Given the description of an element on the screen output the (x, y) to click on. 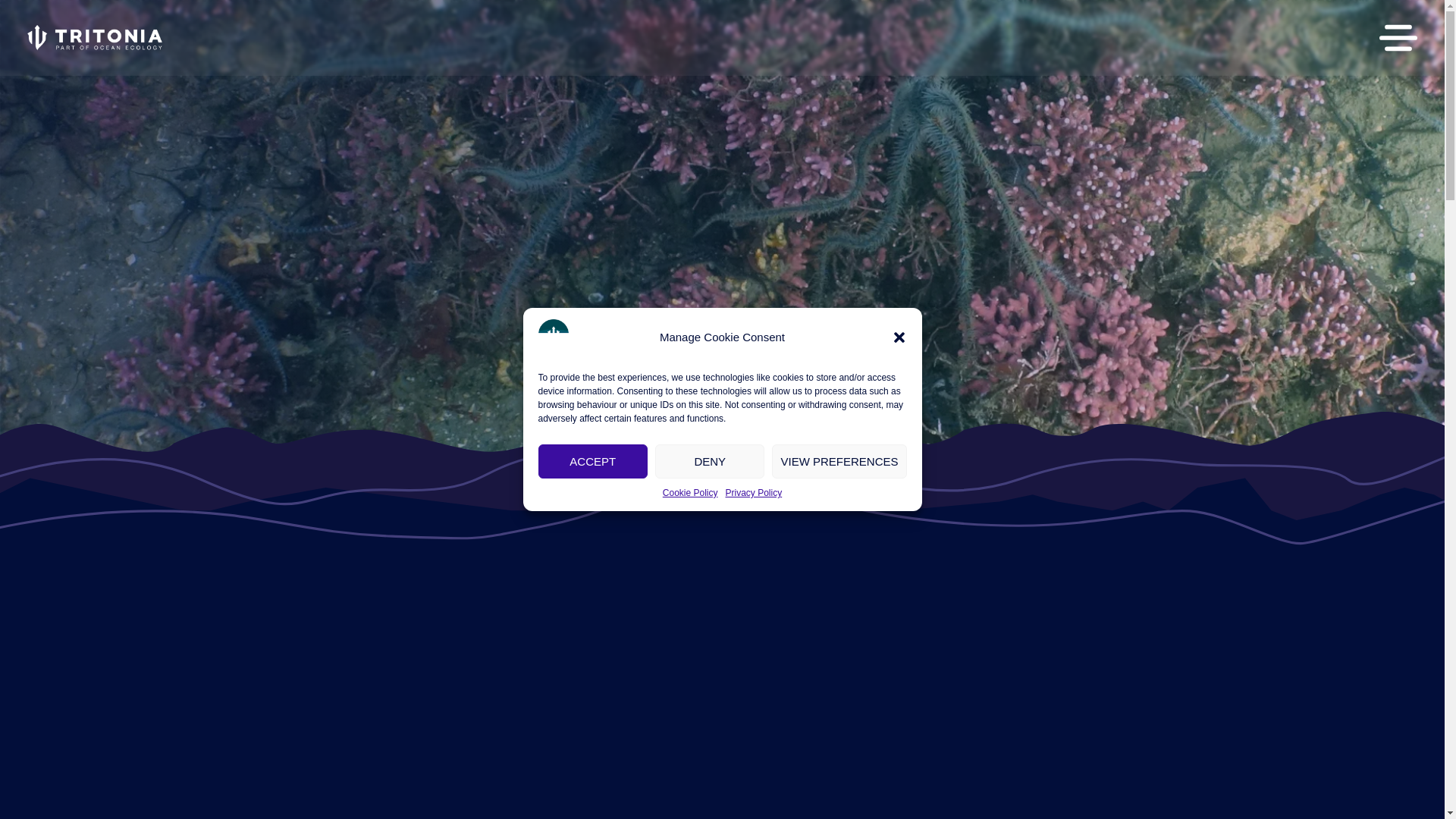
Cookie Policy (689, 492)
Privacy Policy (753, 492)
Tritonia new logo with ocean ec - tritonia (95, 38)
DENY (709, 461)
VIEW PREFERENCES (838, 461)
ACCEPT (592, 461)
Circle - tritonia (553, 334)
